Given the description of an element on the screen output the (x, y) to click on. 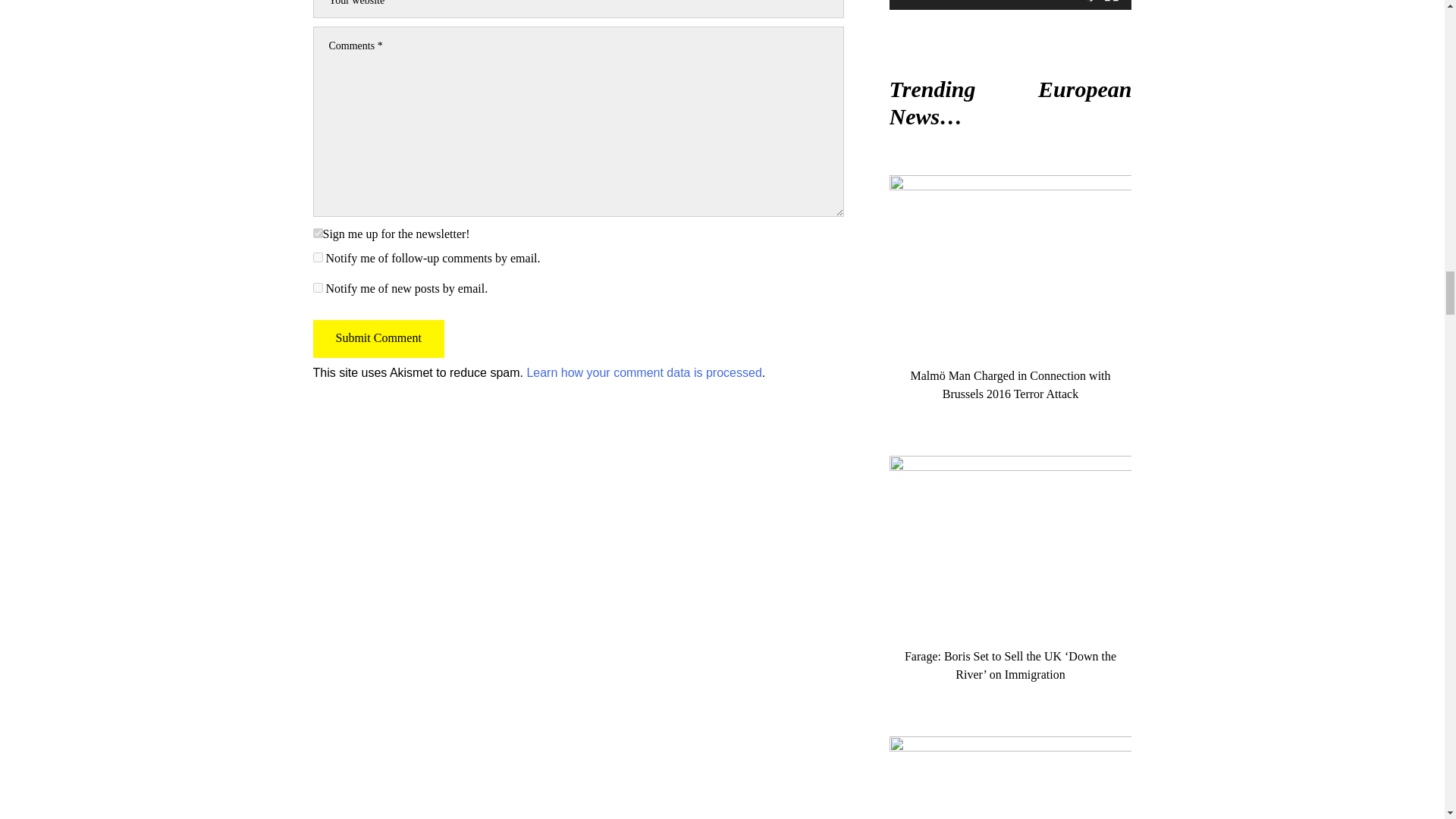
Submit Comment (378, 338)
subscribe (317, 257)
1 (317, 233)
subscribe (317, 287)
